Given the description of an element on the screen output the (x, y) to click on. 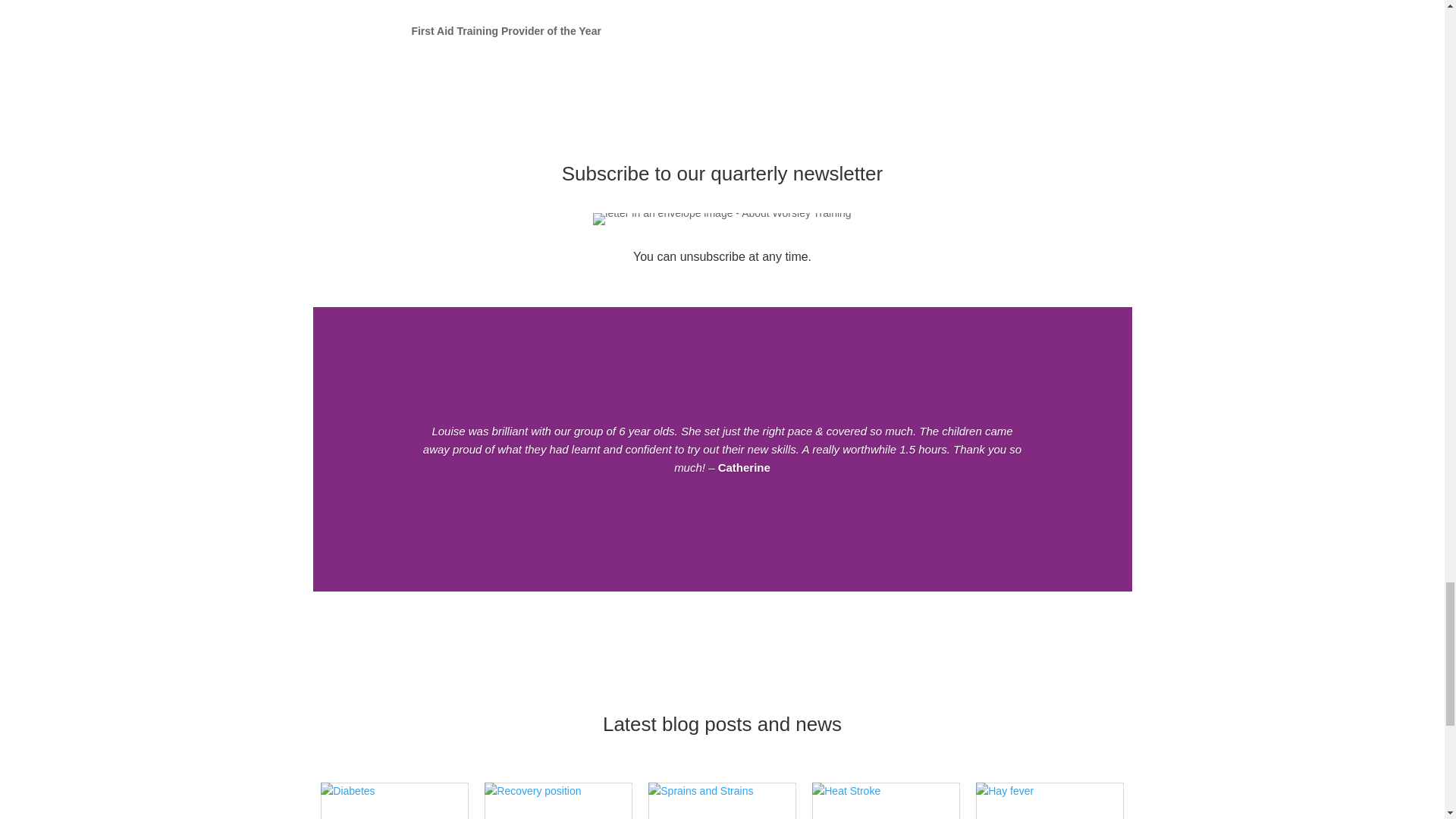
letter in an envelope image (721, 218)
